Given the description of an element on the screen output the (x, y) to click on. 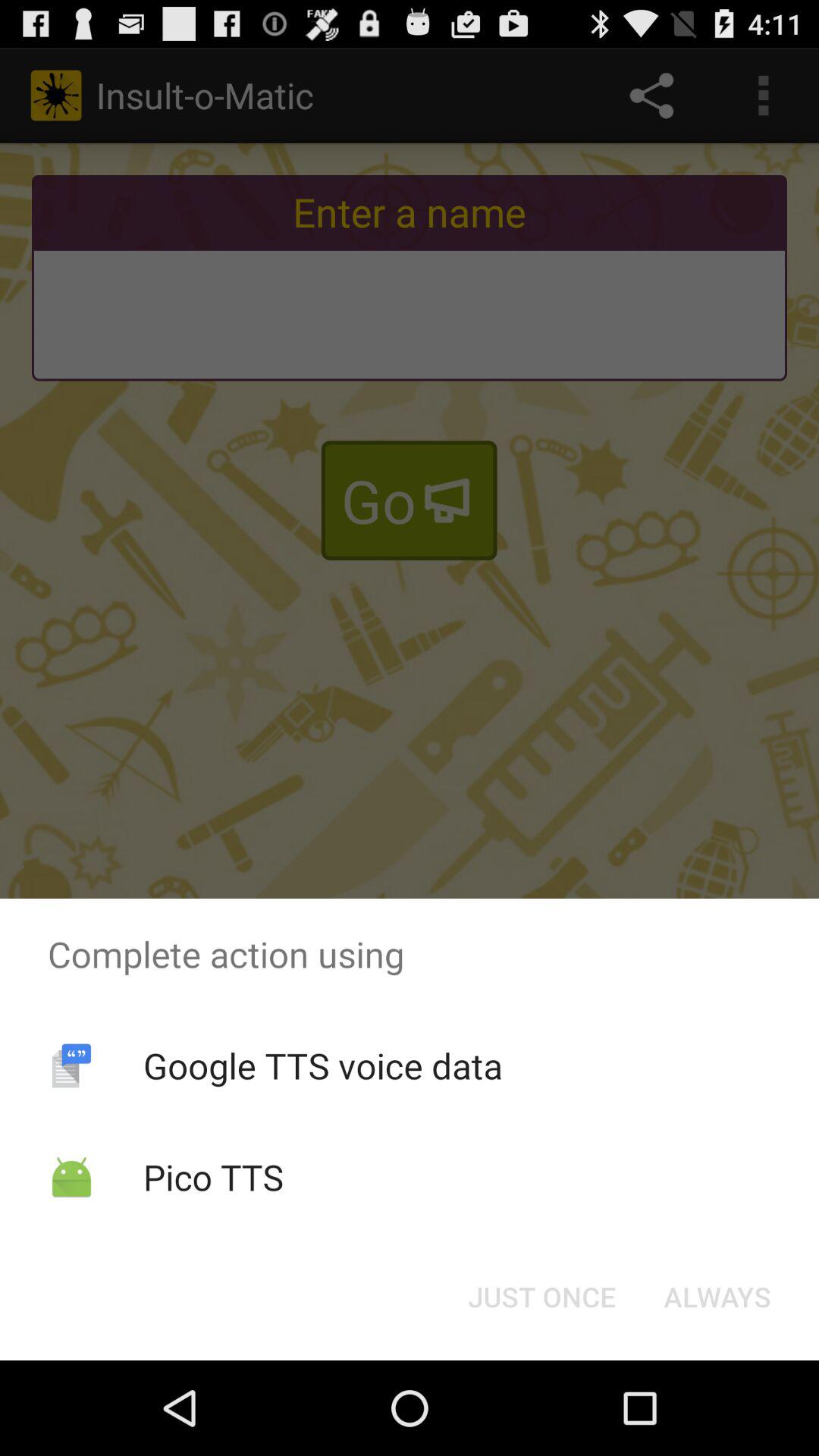
tap the icon to the right of just once item (717, 1296)
